Given the description of an element on the screen output the (x, y) to click on. 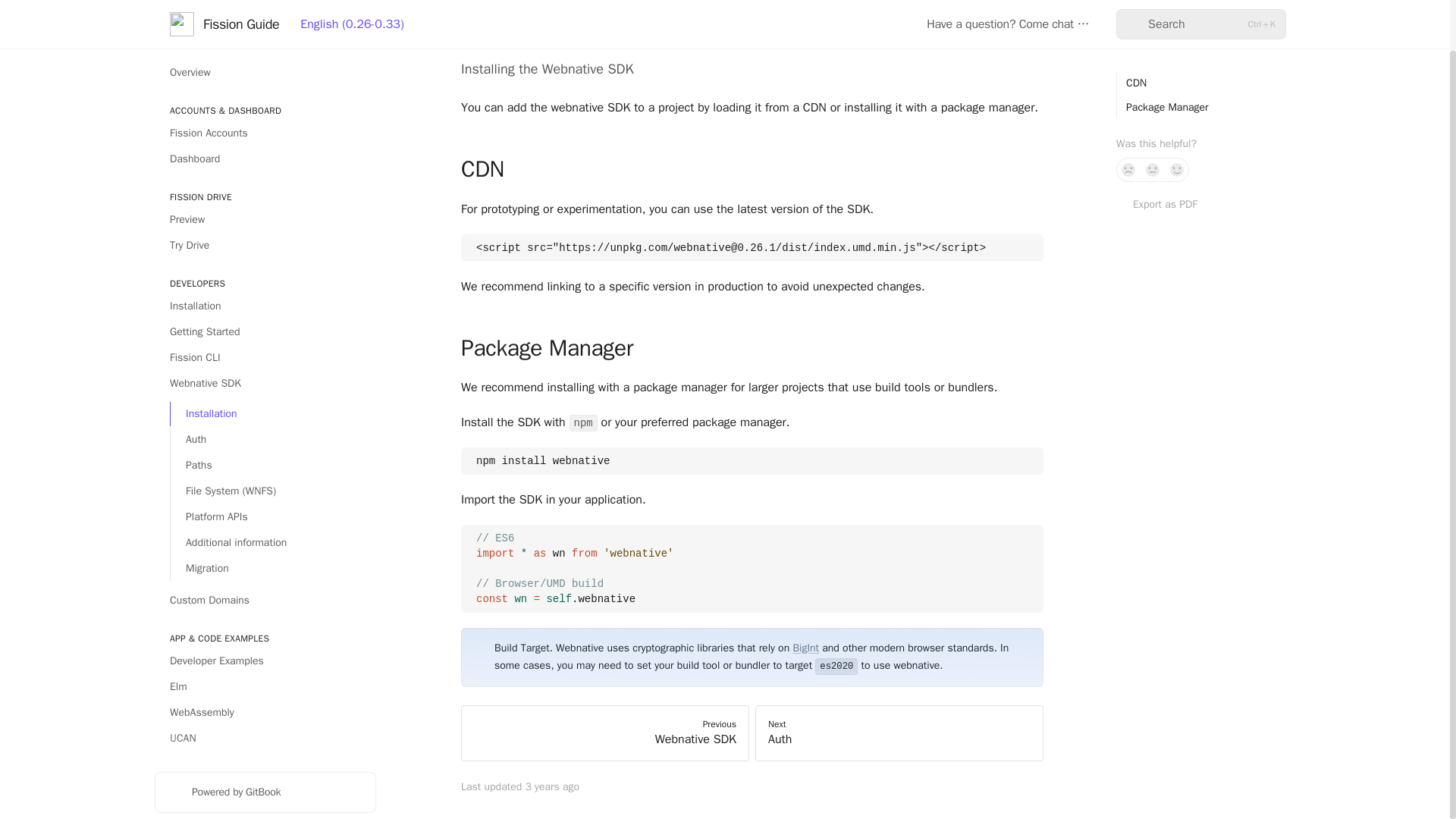
npm install webnative (752, 461)
Yes, it was! (1176, 115)
Fission Accounts (264, 79)
Migration (272, 514)
Preview (264, 165)
Paths (272, 411)
Auth (272, 385)
Custom Domains (264, 546)
Installation (272, 360)
No (1128, 115)
